Given the description of an element on the screen output the (x, y) to click on. 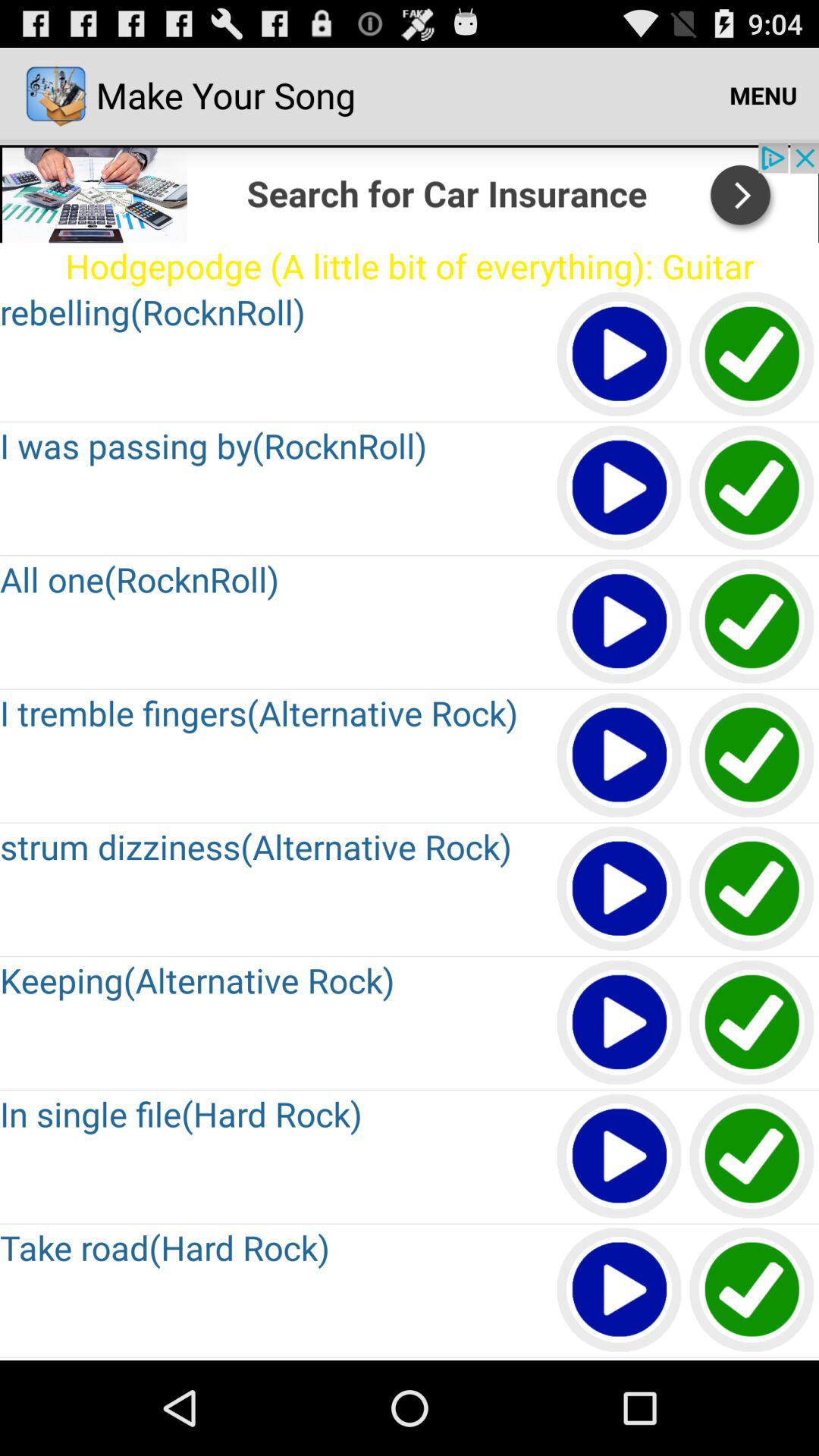
play song (619, 889)
